Given the description of an element on the screen output the (x, y) to click on. 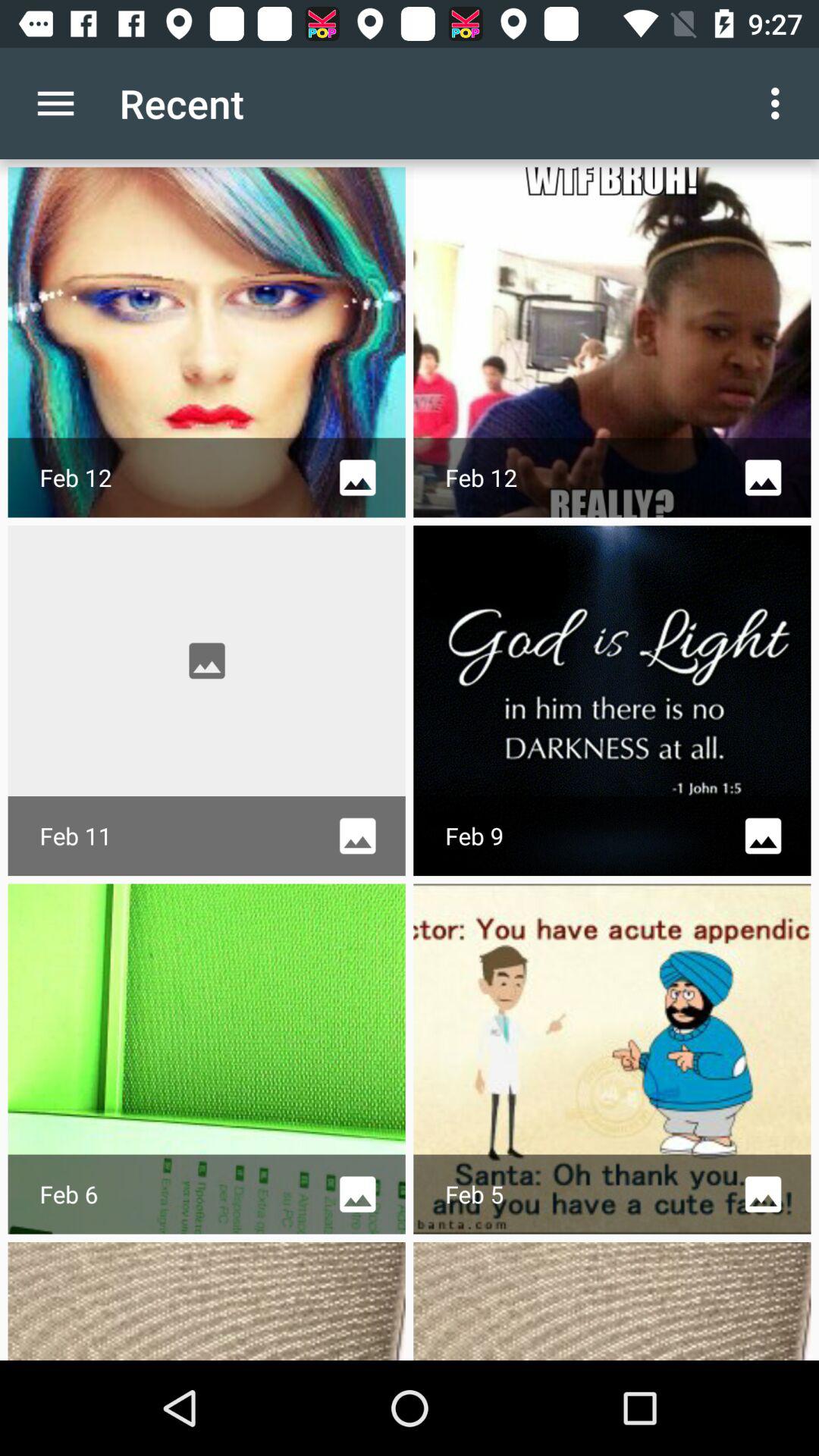
choose the app next to the recent item (55, 103)
